Given the description of an element on the screen output the (x, y) to click on. 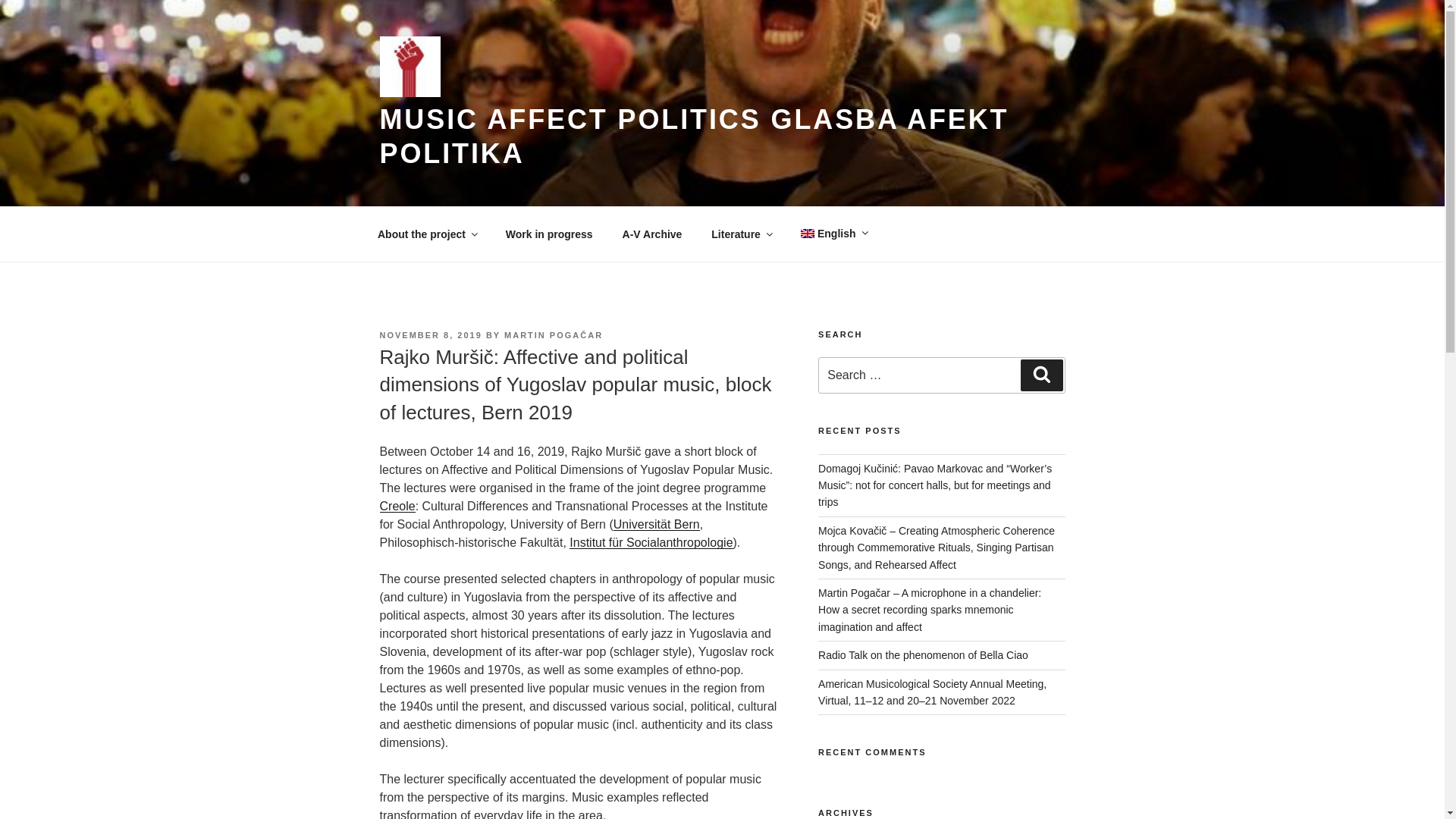
Creole (396, 505)
MUSIC AFFECT POLITICS GLASBA AFEKT POLITIKA (693, 136)
Radio Talk on the phenomenon of Bella Ciao (922, 654)
Work in progress (548, 234)
Literature (741, 234)
Search (1041, 375)
NOVEMBER 8, 2019 (429, 334)
A-V Archive (651, 234)
English (833, 233)
About the project (426, 234)
